Given the description of an element on the screen output the (x, y) to click on. 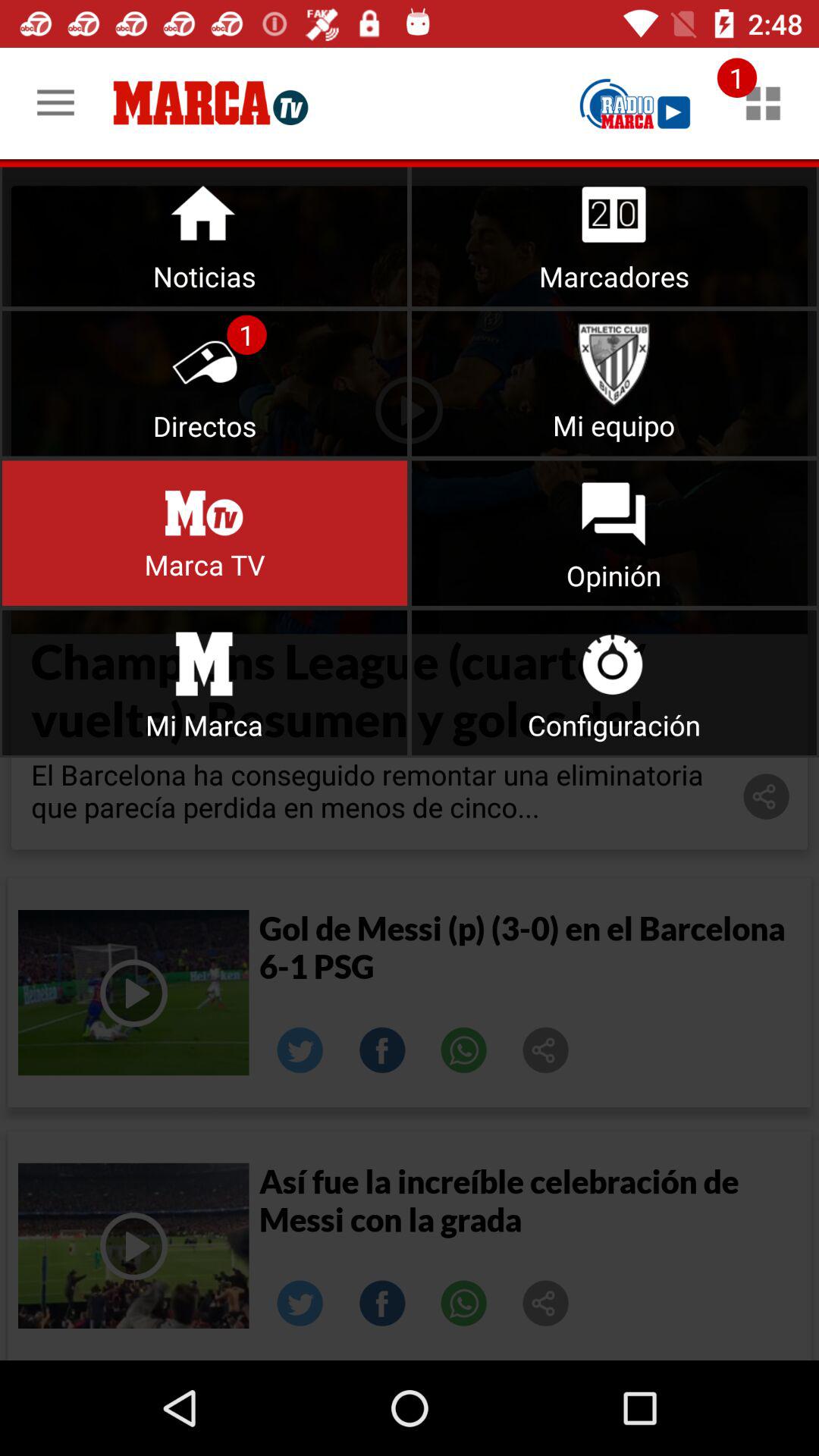
marca tv (635, 103)
